Given the description of an element on the screen output the (x, y) to click on. 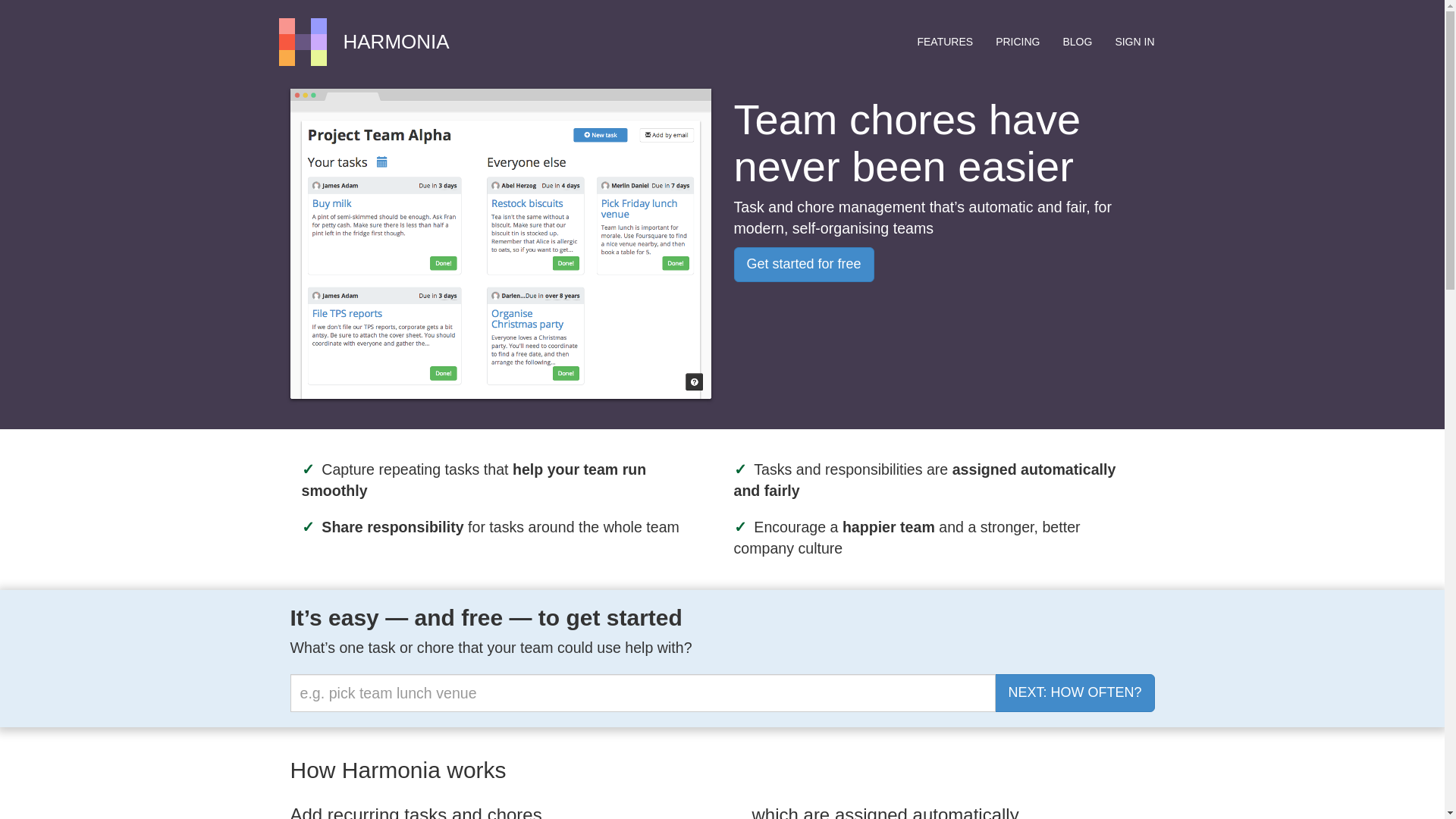
HARMONIA (395, 41)
'Getting things done, with chaos.' - Go Free Range (302, 42)
NEXT: HOW OFTEN? (1074, 692)
BLOG (1077, 41)
FEATURES (944, 41)
Get started for free (804, 264)
SIGN IN (1134, 41)
PRICING (1017, 41)
